Given the description of an element on the screen output the (x, y) to click on. 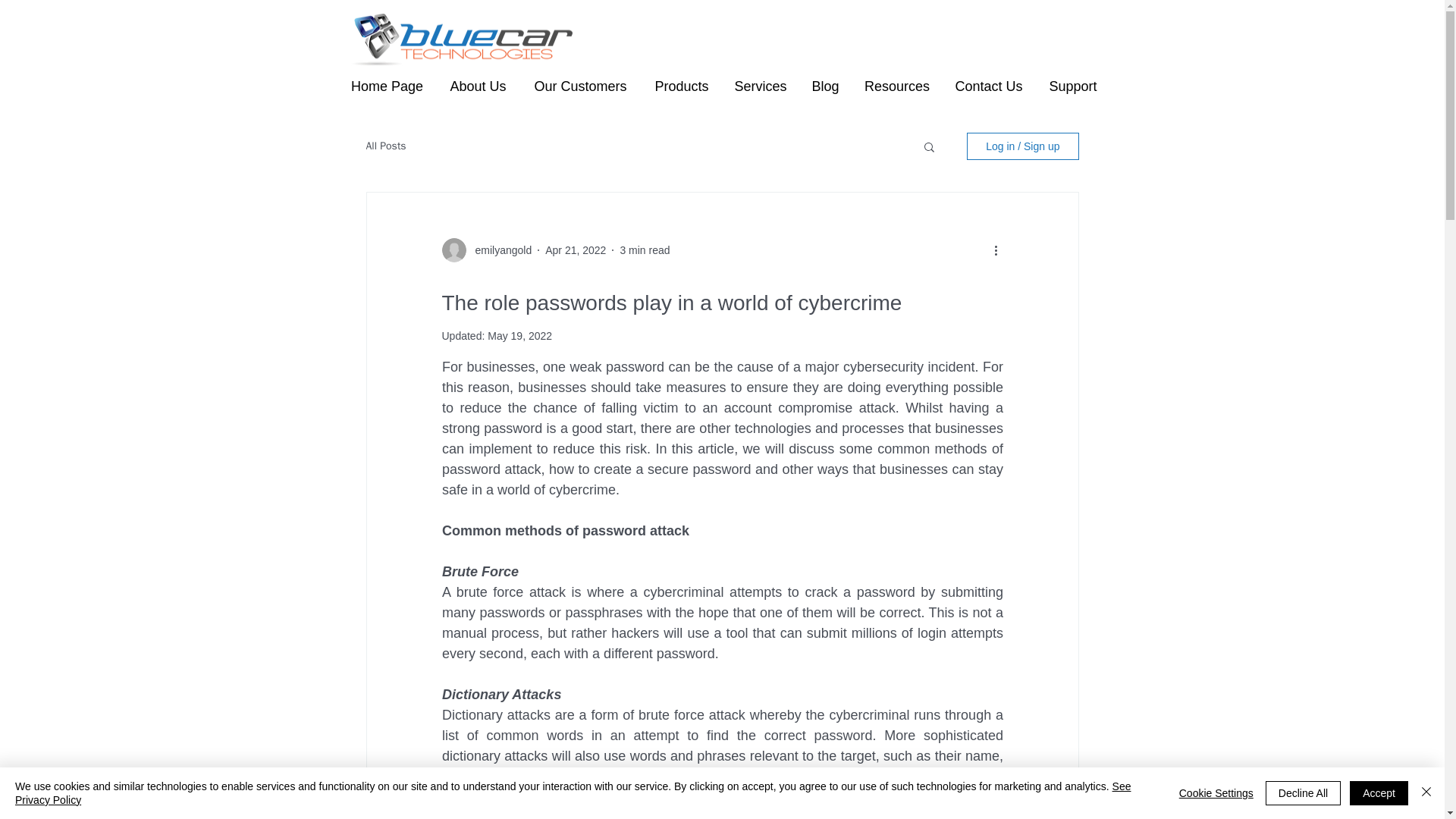
emilyangold (498, 250)
All Posts (385, 146)
Resources (896, 86)
3 min read (644, 250)
Home Page (386, 86)
Our Customers (580, 86)
About Us (477, 86)
Contact Us (988, 86)
Blog (825, 86)
Services (759, 86)
